Given the description of an element on the screen output the (x, y) to click on. 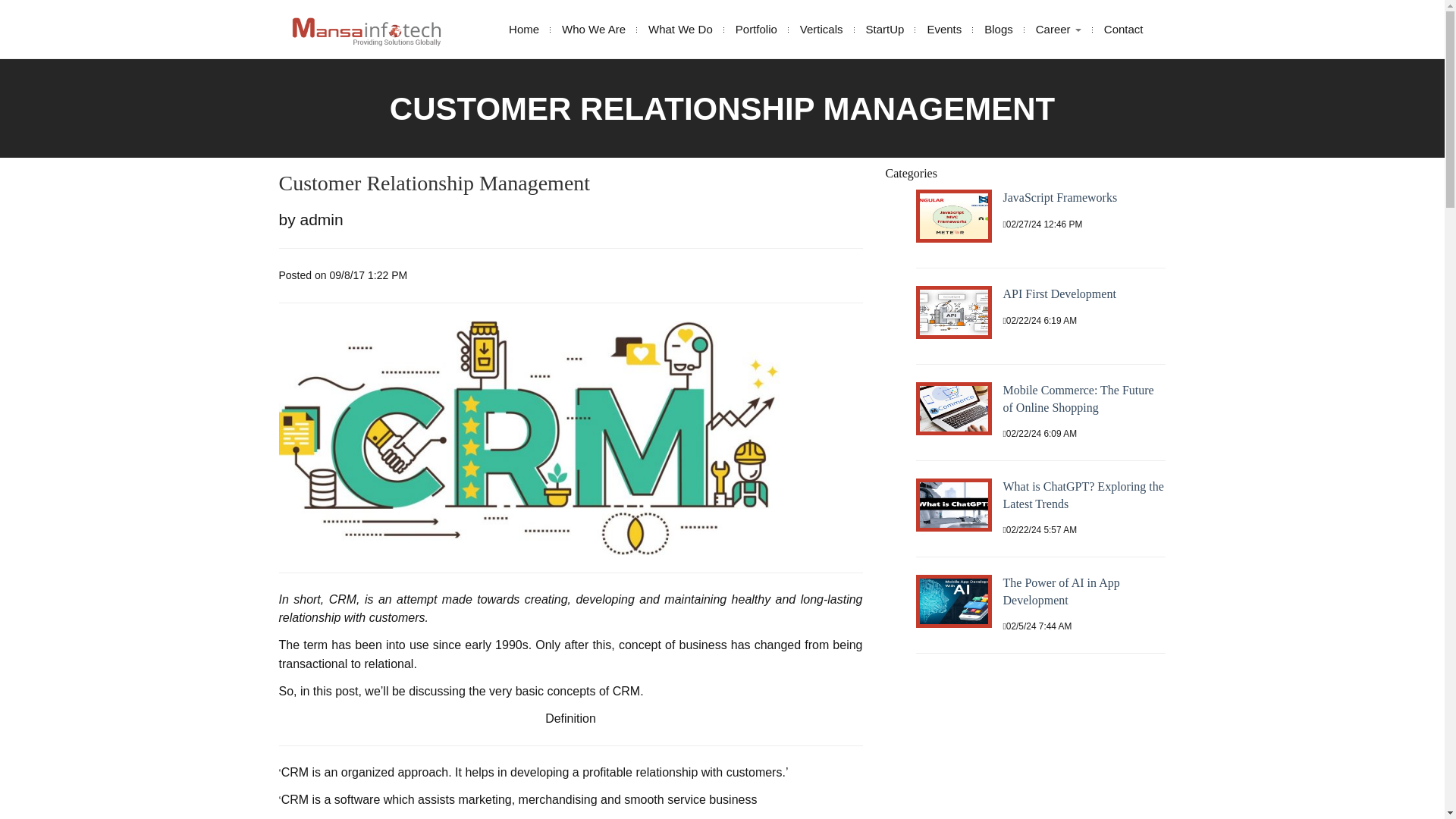
Contact (1123, 28)
StartUp (884, 28)
Customer Relationship Management (435, 182)
Events (943, 28)
Portfolio (756, 28)
Home (523, 28)
Mobile Commerce: The Future of Online Shopping (1078, 398)
Career (1059, 28)
Verticals (821, 28)
Who We Are (593, 28)
Contact (1123, 28)
What We Do (680, 28)
Events (943, 28)
Career (1059, 28)
Home (523, 28)
